Given the description of an element on the screen output the (x, y) to click on. 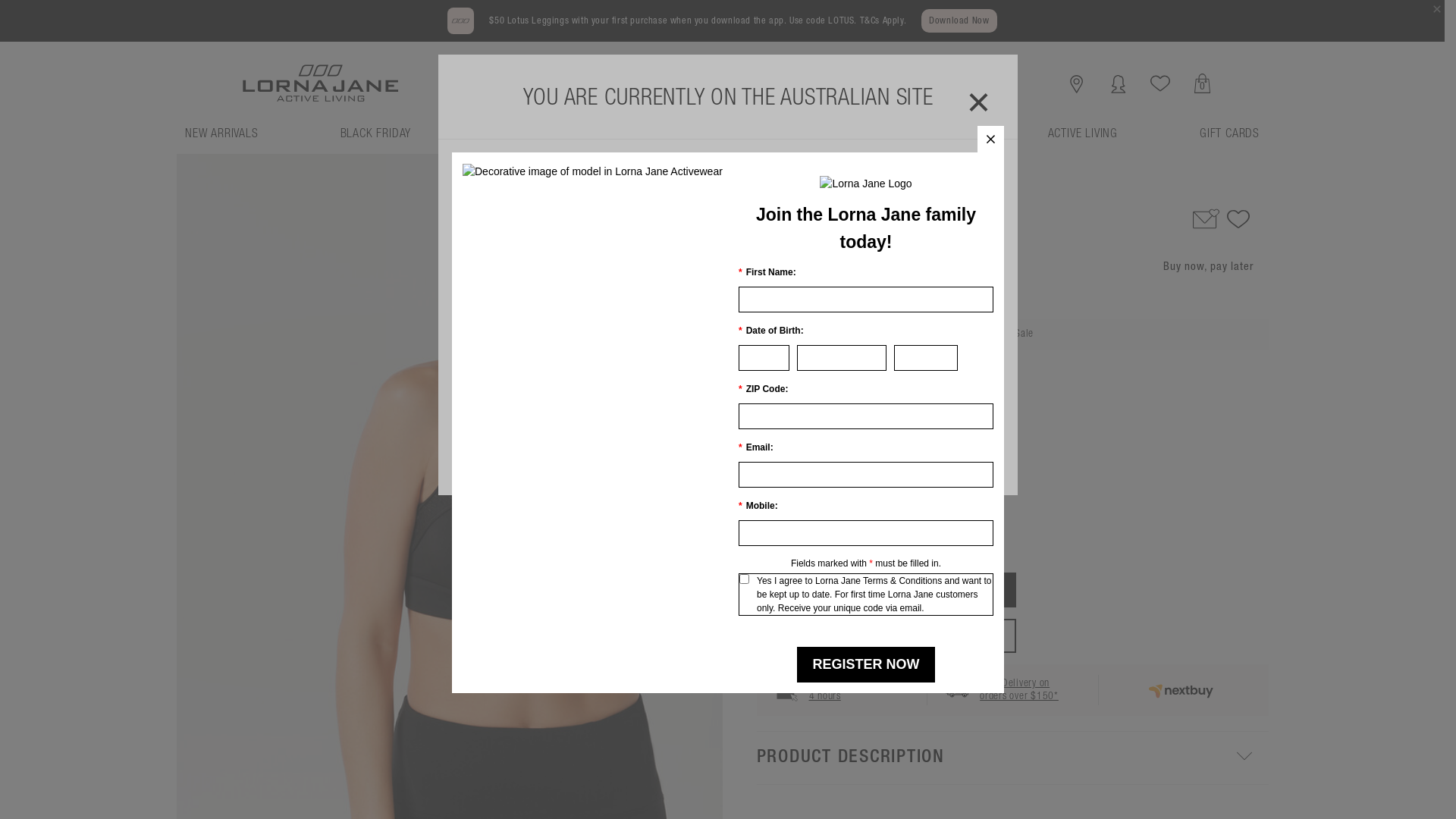
XL Element type: text (952, 459)
Shop Lotus Leggings Element type: hover (592, 170)
Sale Element type: text (765, 183)
S Element type: text (842, 459)
NEW ARRIVALS Element type: text (221, 139)
CLOTHING Element type: text (650, 139)
Nextbuy Element type: text (1183, 689)
Lorna Jane Logo  Element type: hover (865, 182)
Garment Care Element type: text (963, 490)
Stay on the Australian Site Element type: text (727, 447)
Download Now Element type: text (958, 20)
Free Click & Collect in 4 hours Element type: text (856, 689)
CHRISTMAS GIFTING Element type: text (914, 139)
Find My Size Element type: text (870, 490)
PRODUCT DESCRIPTION Element type: text (1012, 757)
XXS Element type: text (770, 459)
XS Element type: text (806, 459)
FEATURED Element type: text (517, 139)
L Element type: text (915, 459)
SALE Element type: text (769, 139)
ACTIVE LIVING Element type: text (1082, 139)
- Element type: text (770, 547)
click and collect icon Element type: hover (786, 689)
GO TO SINGAPORE SITE Element type: text (727, 341)
Buy now, pay later Element type: text (1207, 266)
BLACK FRIDAY Element type: text (375, 139)
SELECT A SIZE Element type: text (886, 590)
Sports Bras Element type: text (811, 183)
CLICK & COLLECT IN STORE Element type: text (886, 635)
+ Element type: text (824, 547)
Size Chart Element type: text (790, 490)
GIFT CARDS Element type: text (1229, 139)
M Element type: text (879, 459)
0 Element type: text (1202, 83)
REGISTER NOW Element type: text (865, 664)
Free Delivery on orders over $150* Element type: text (1018, 689)
Drop a hint Element type: hover (1205, 218)
